Given the description of an element on the screen output the (x, y) to click on. 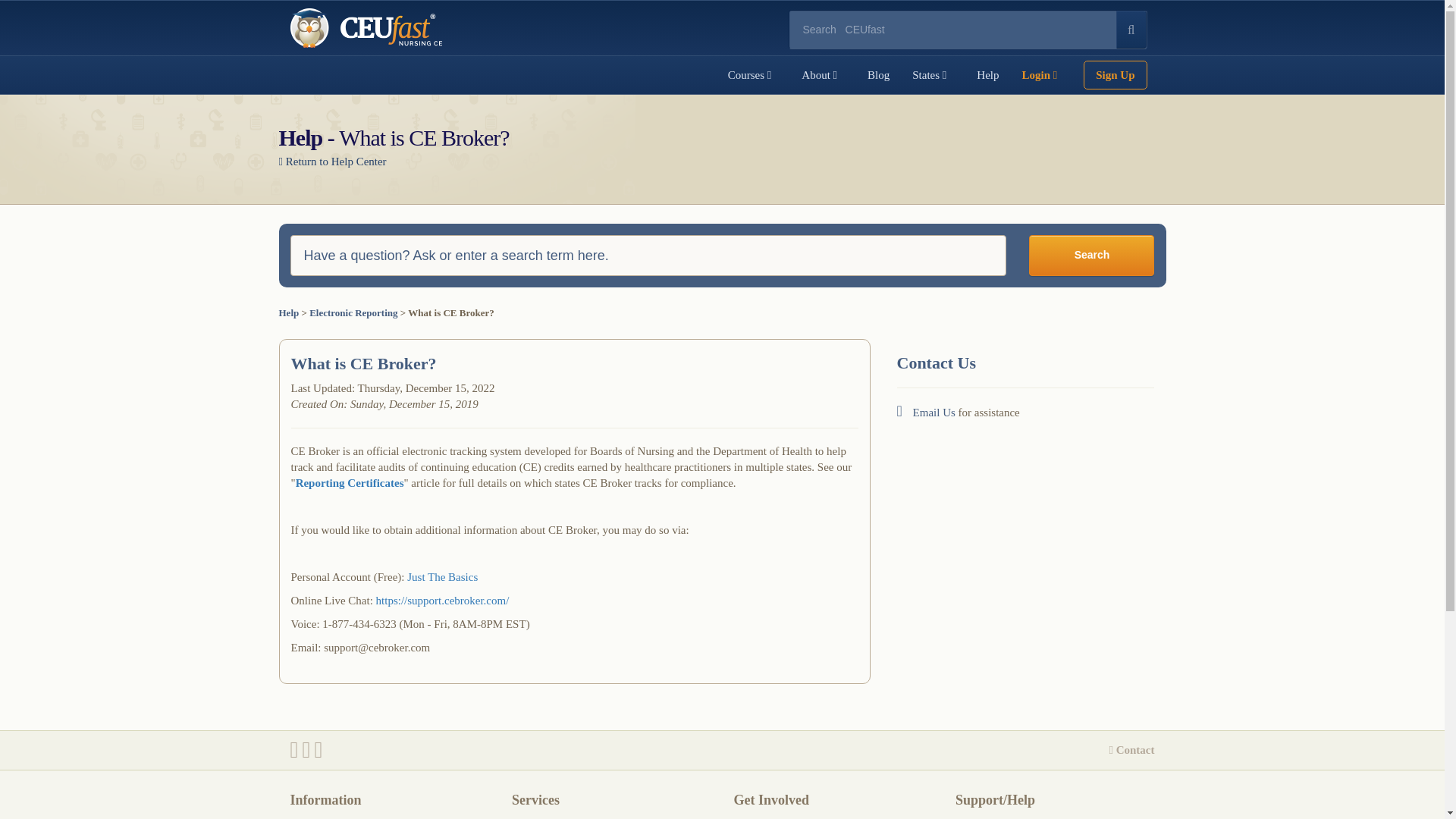
Search (1091, 255)
